Given the description of an element on the screen output the (x, y) to click on. 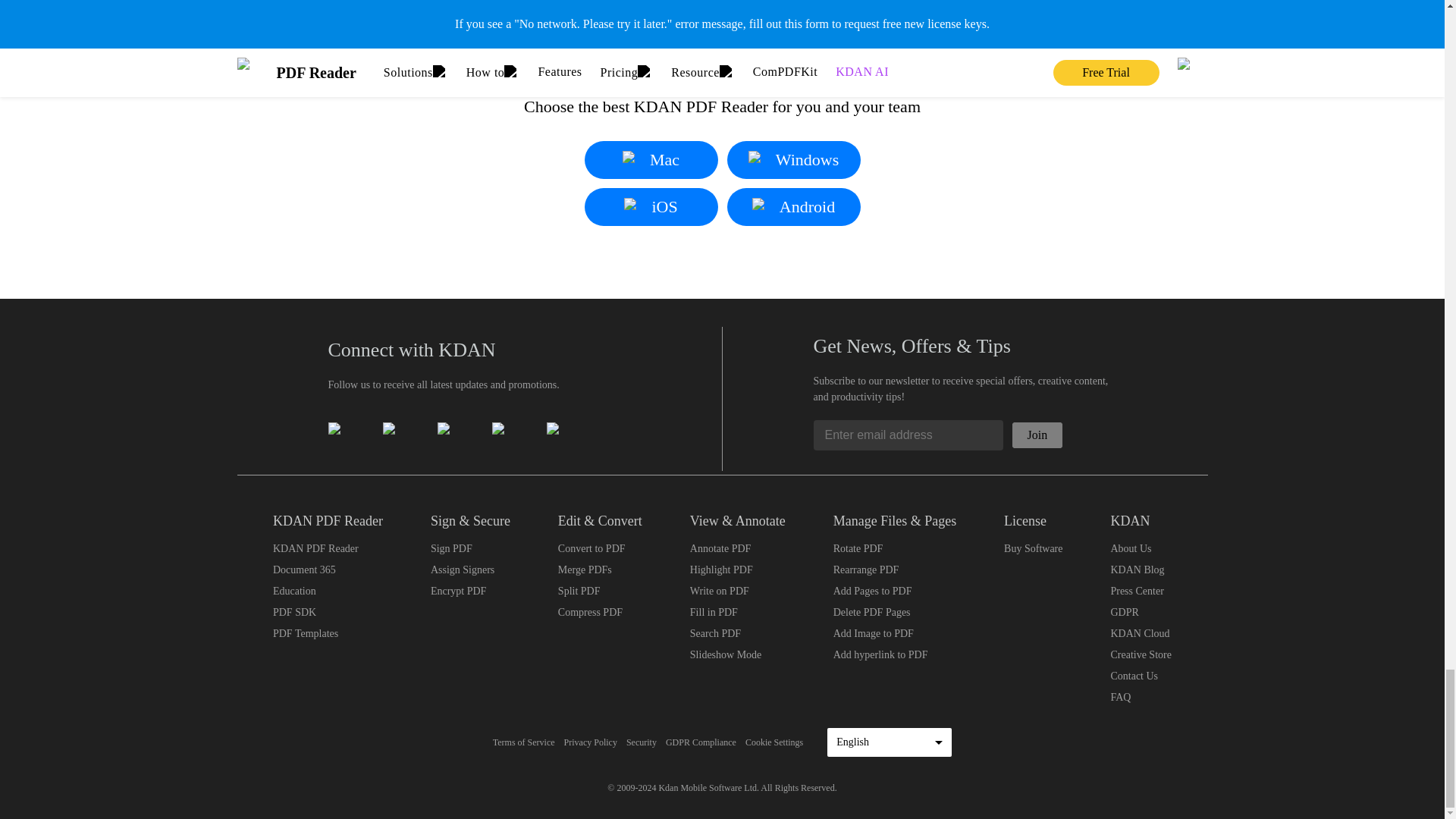
Windows (793, 159)
Android (793, 207)
iOS (650, 207)
Mac (650, 159)
